Given the description of an element on the screen output the (x, y) to click on. 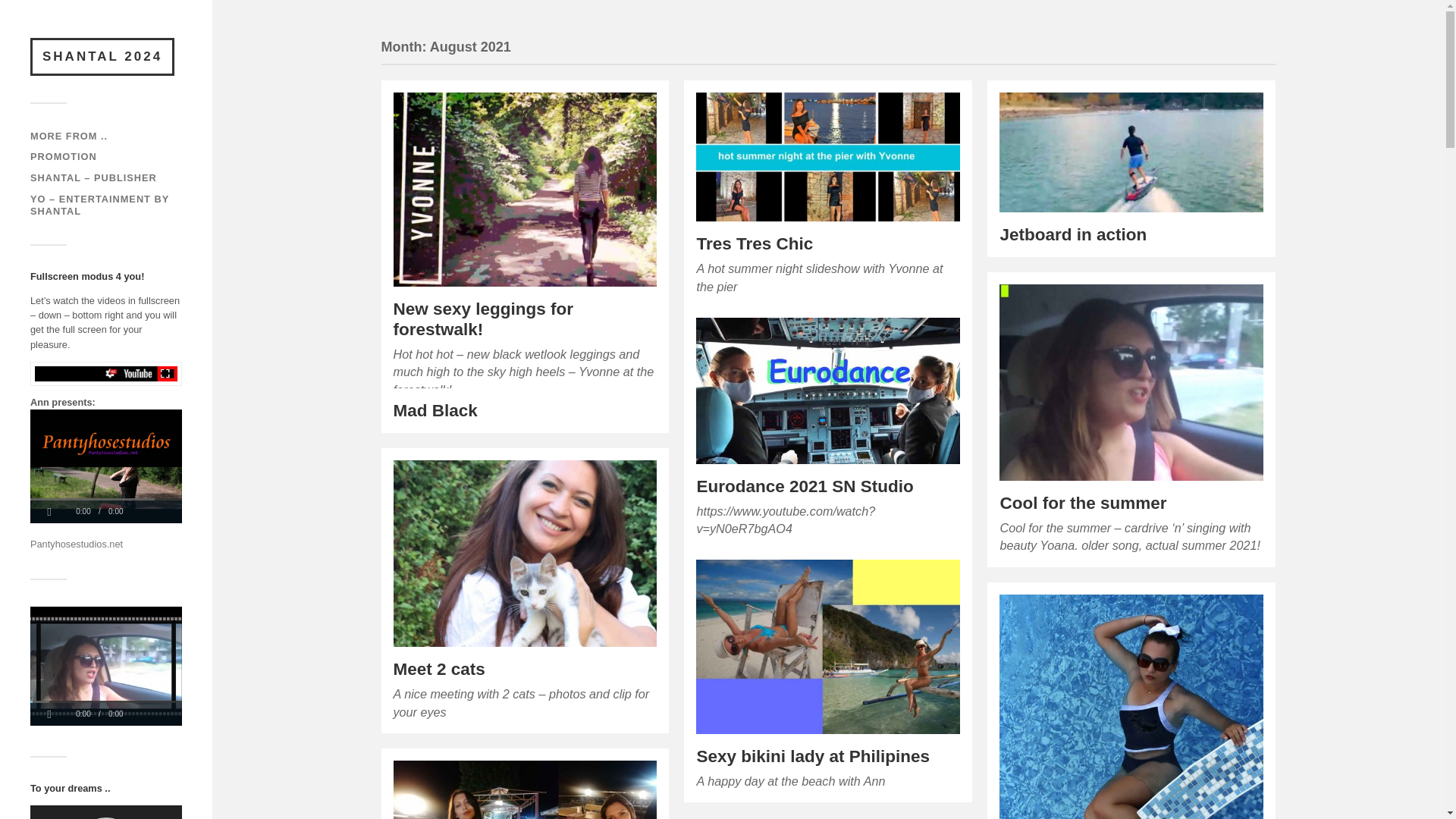
SHANTAL 2024 (102, 56)
Pantyhosestudios.net (76, 543)
PROMOTION (63, 156)
MORE FROM .. (68, 135)
